Given the description of an element on the screen output the (x, y) to click on. 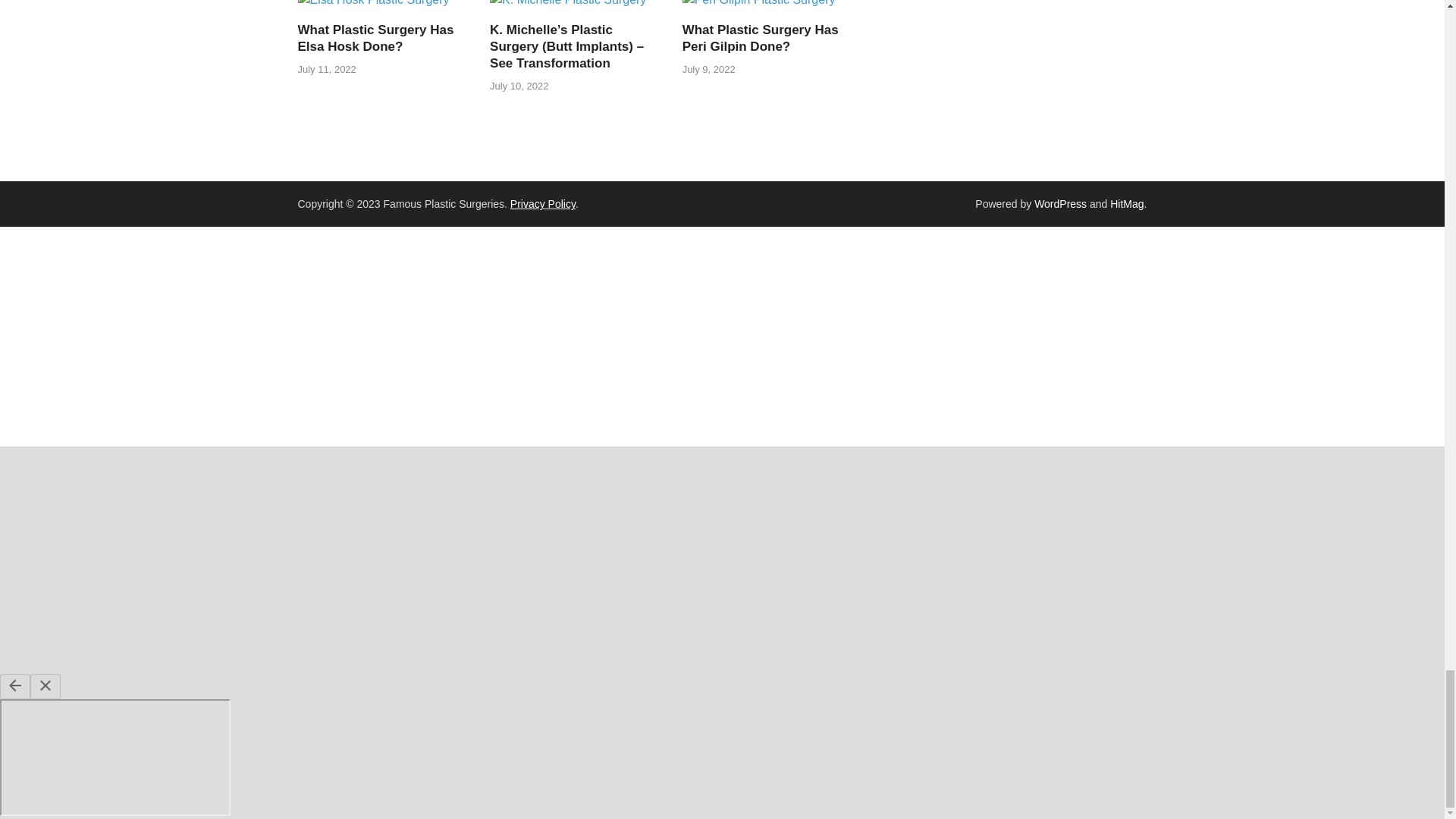
What Plastic Surgery Has Elsa Hosk Done? (374, 38)
WordPress (1059, 203)
What Plastic Surgery Has Peri Gilpin Done? (758, 6)
What Plastic Surgery Has Elsa Hosk Done? (372, 6)
What Plastic Surgery Has Peri Gilpin Done? (760, 38)
HitMag WordPress Theme (1125, 203)
